Given the description of an element on the screen output the (x, y) to click on. 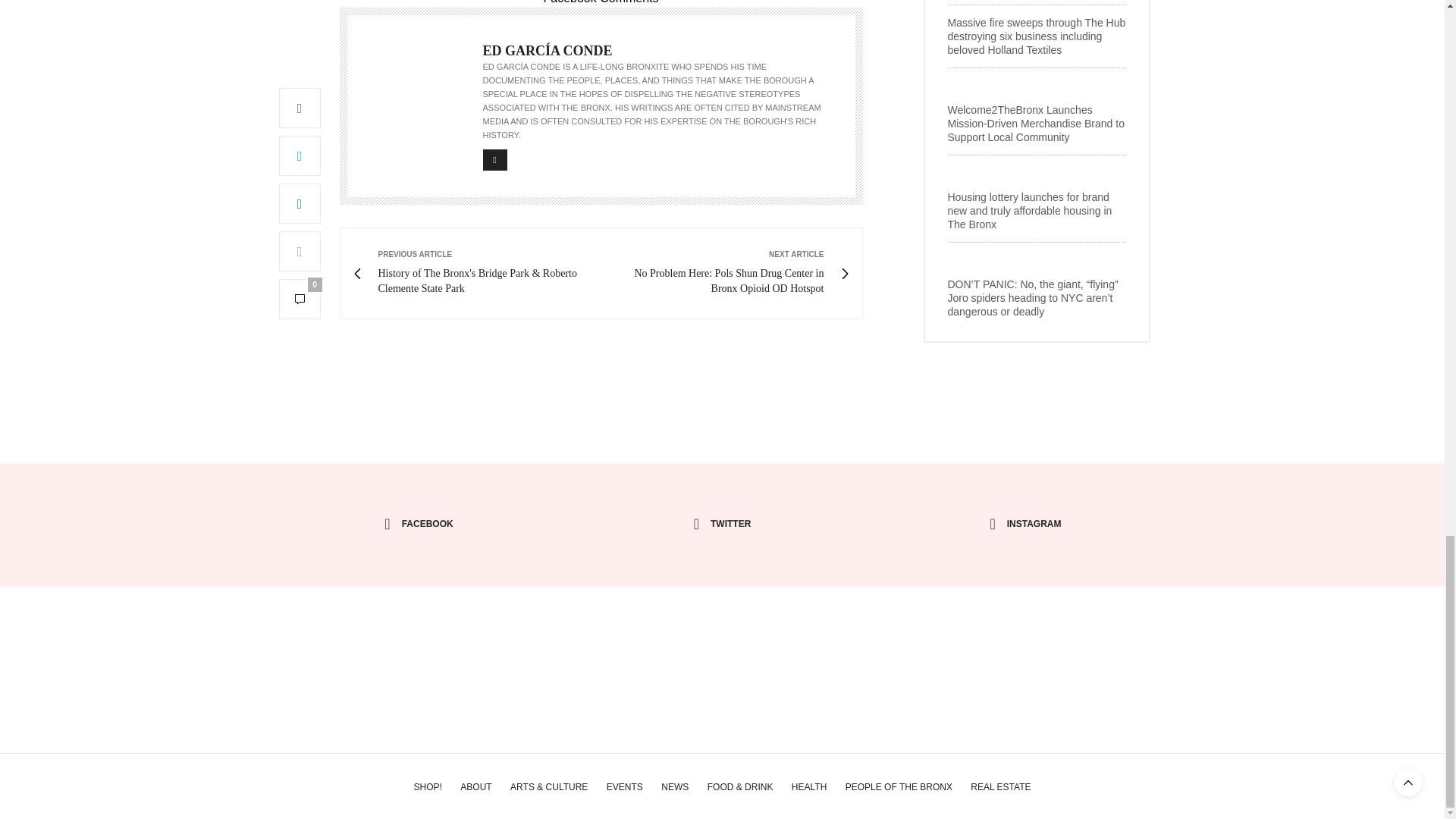
Welcome2TheBronx (722, 641)
